Given the description of an element on the screen output the (x, y) to click on. 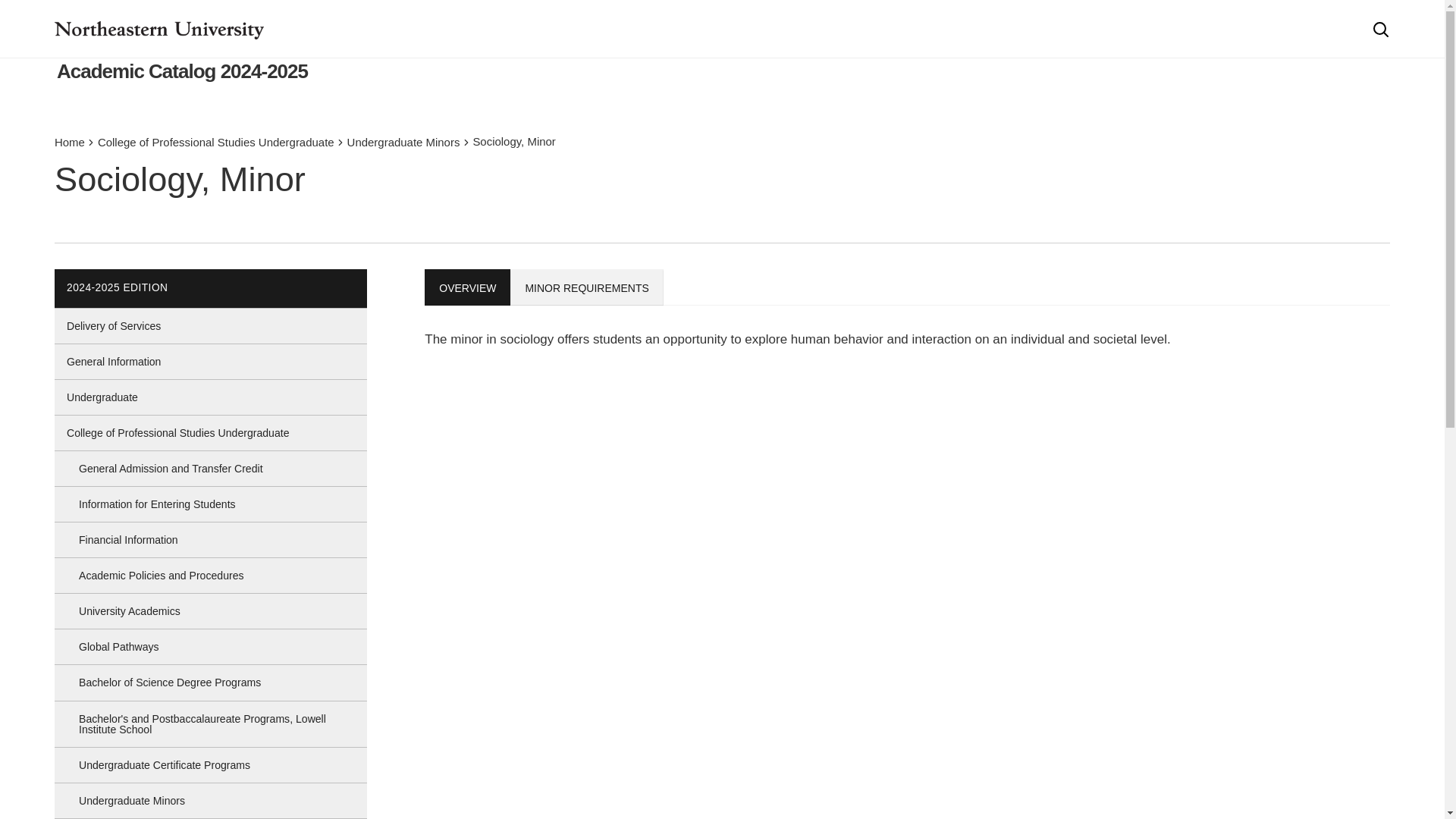
Undergraduate Minors (403, 142)
Delivery of Services (210, 325)
College of Professional Studies Undergraduate (210, 432)
2024-2025 EDITION (117, 287)
Toggle Search Visibility (1380, 28)
Undergraduate Certificate Programs (210, 764)
General Information (210, 361)
Undergraduate (210, 397)
Information for Entering Students (210, 503)
Financial Information (210, 539)
